Given the description of an element on the screen output the (x, y) to click on. 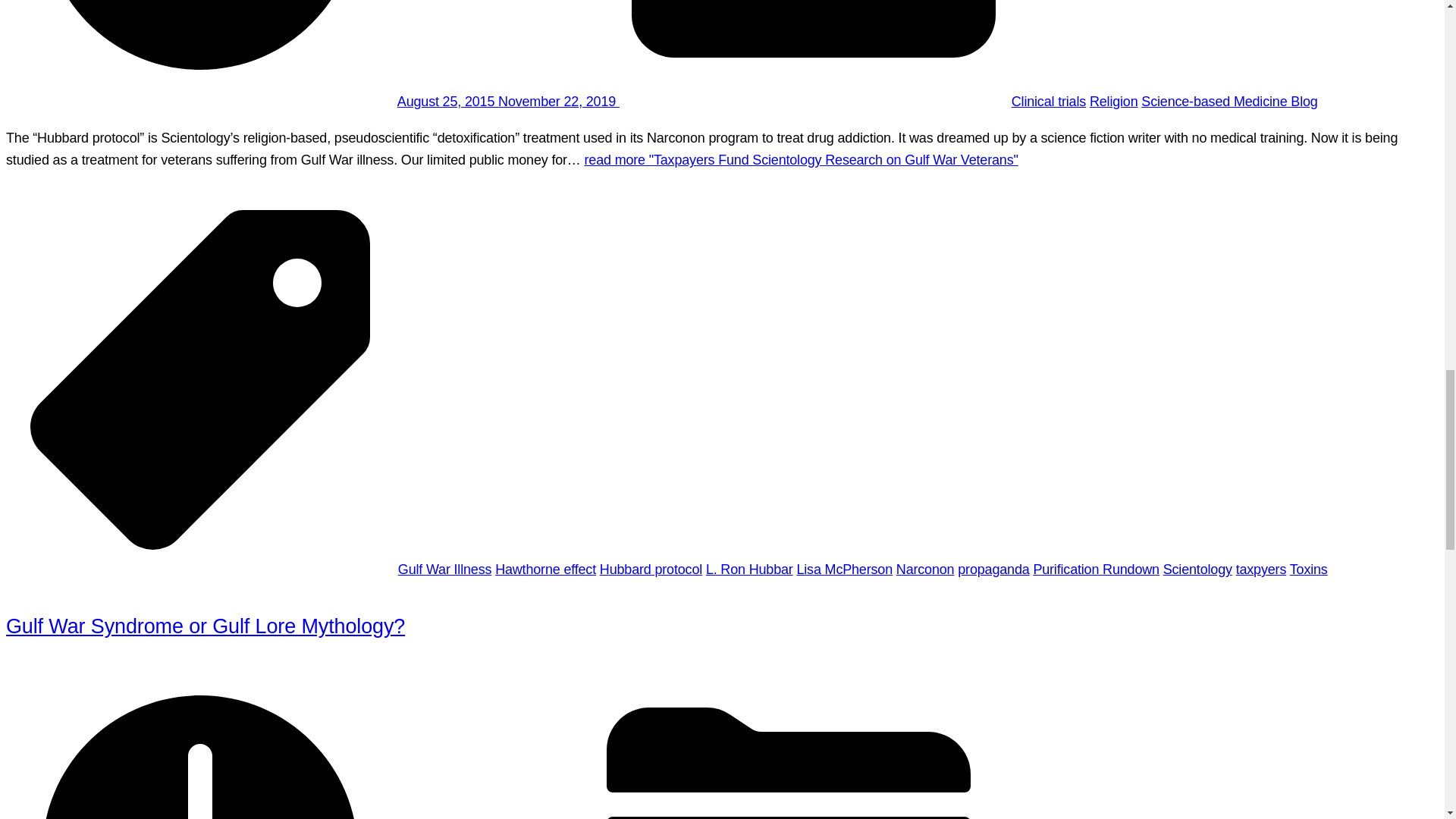
Hawthorne effect (545, 569)
Science-based Medicine Blog (1229, 101)
August 25, 2015 November 22, 2019 (508, 101)
L. Ron Hubbar (749, 569)
Hubbard protocol (650, 569)
Clinical trials (1048, 101)
Religion (1113, 101)
Gulf War Illness (444, 569)
